Given the description of an element on the screen output the (x, y) to click on. 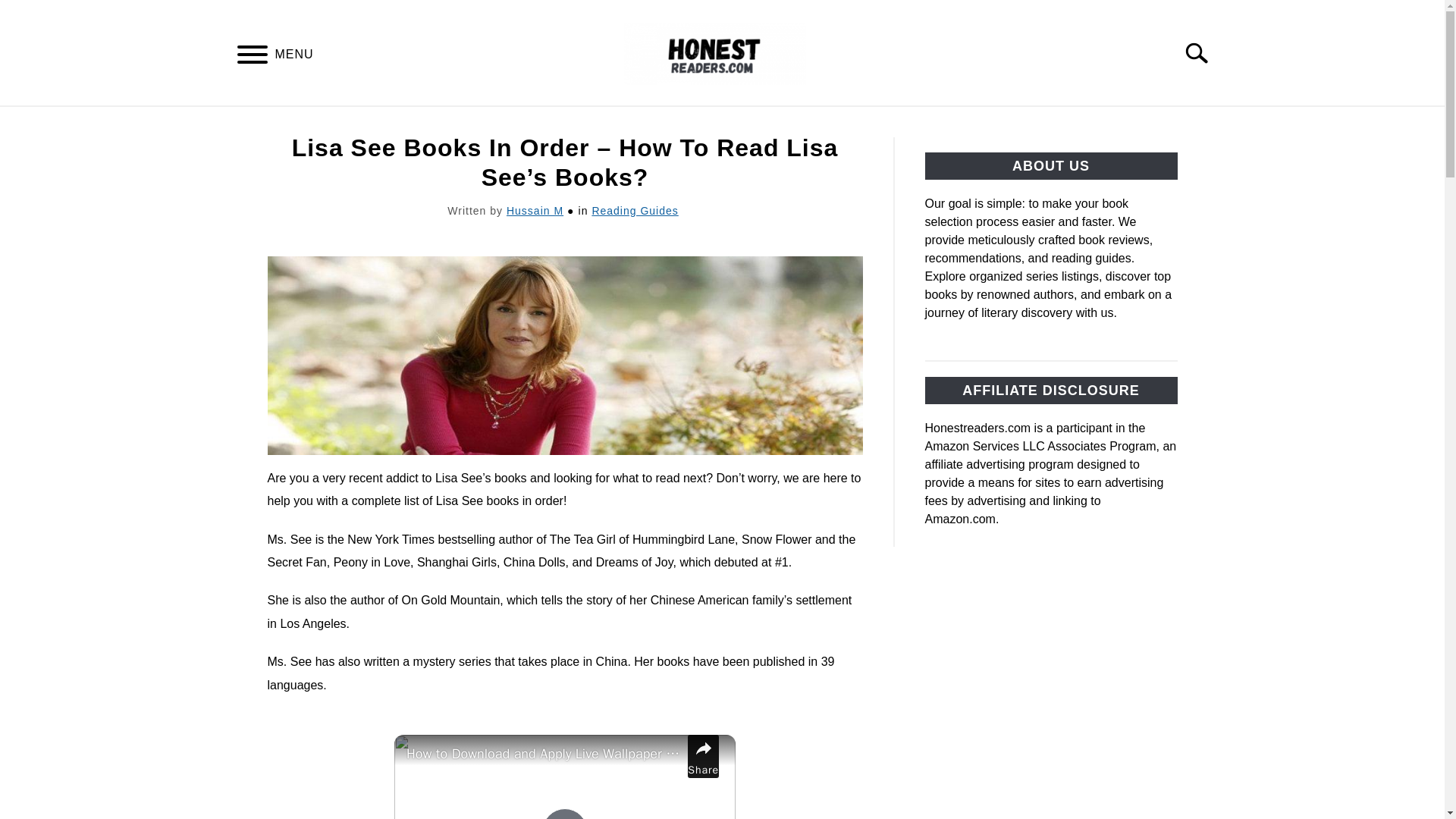
MENU (251, 57)
Play Video (564, 813)
BEST POEMS (829, 123)
Play Video (564, 813)
HOME (466, 123)
READING GUIDES (695, 123)
Search (1203, 52)
BEST BOOKS (561, 123)
Lisa See Books In Order - How To Read Lisa See's Books? (563, 355)
Hussain M (534, 210)
Reading Guides (634, 210)
AUTHOR INFO (950, 123)
